Given the description of an element on the screen output the (x, y) to click on. 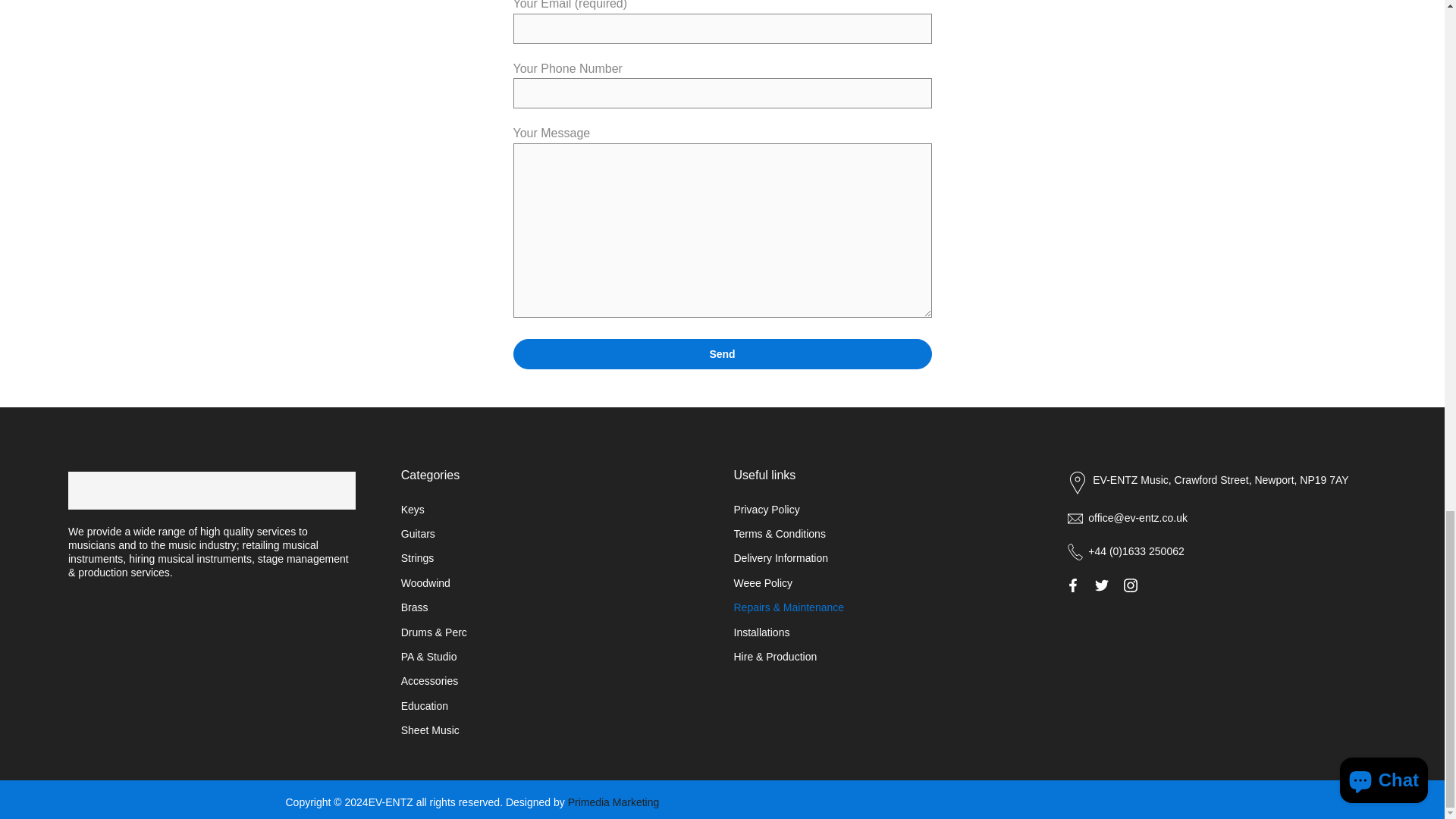
Brass (414, 607)
Send (721, 354)
Accessories (429, 680)
Strings (417, 558)
Sheet Music (430, 729)
Woodwind (425, 582)
Privacy Policy (766, 509)
Guitars (418, 533)
Education (424, 705)
Send (721, 354)
